Given the description of an element on the screen output the (x, y) to click on. 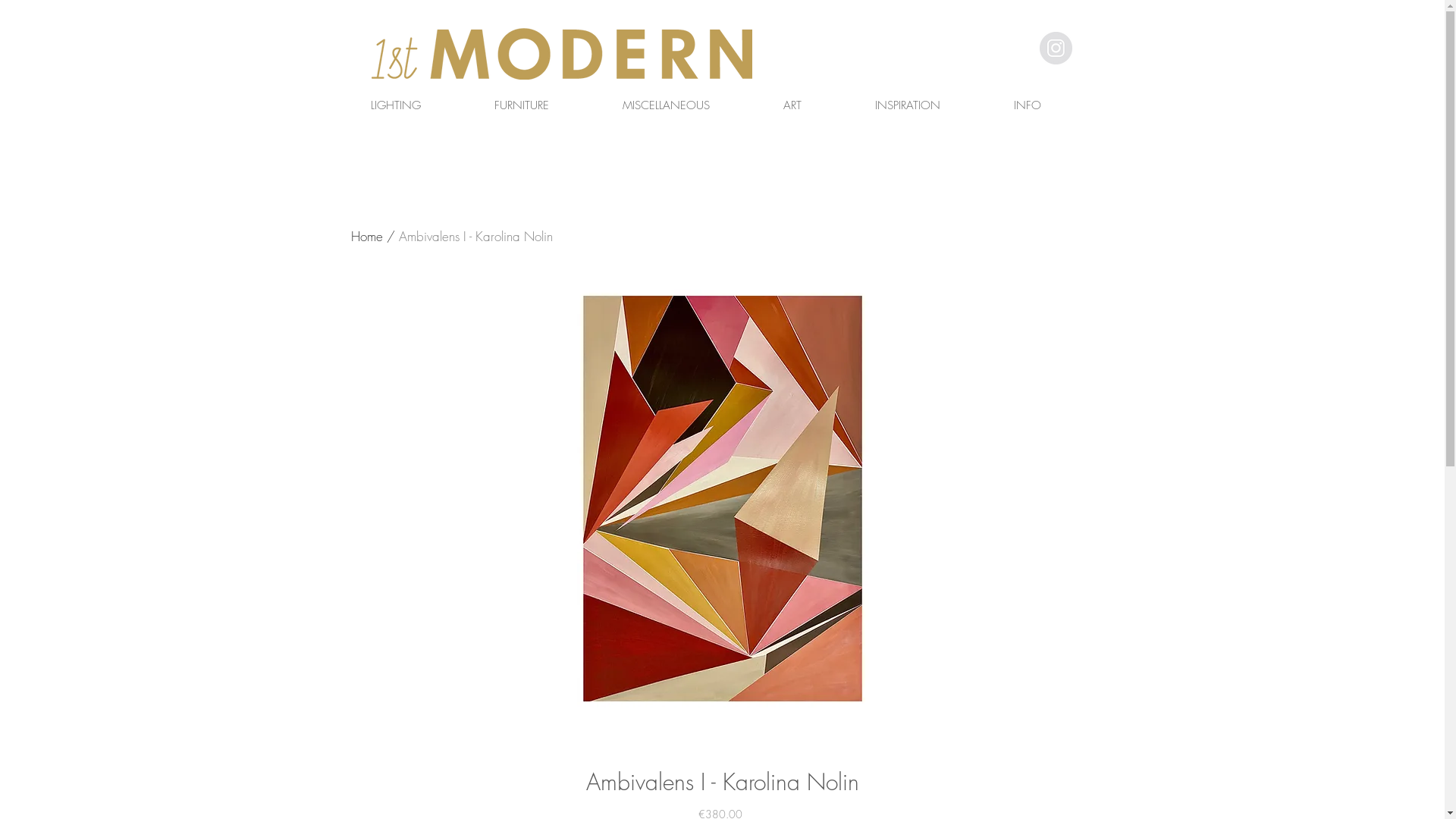
ART Element type: text (791, 105)
FURNITURE Element type: text (522, 105)
1stModern_gold.png Element type: hover (561, 53)
0 Element type: text (1014, 46)
INSPIRATION Element type: text (907, 105)
Home Element type: text (366, 235)
Ambivalens I - Karolina Nolin Element type: text (475, 235)
MISCELLANEOUS Element type: text (665, 105)
LIGHTING Element type: text (395, 105)
INFO Element type: text (1026, 105)
